Given the description of an element on the screen output the (x, y) to click on. 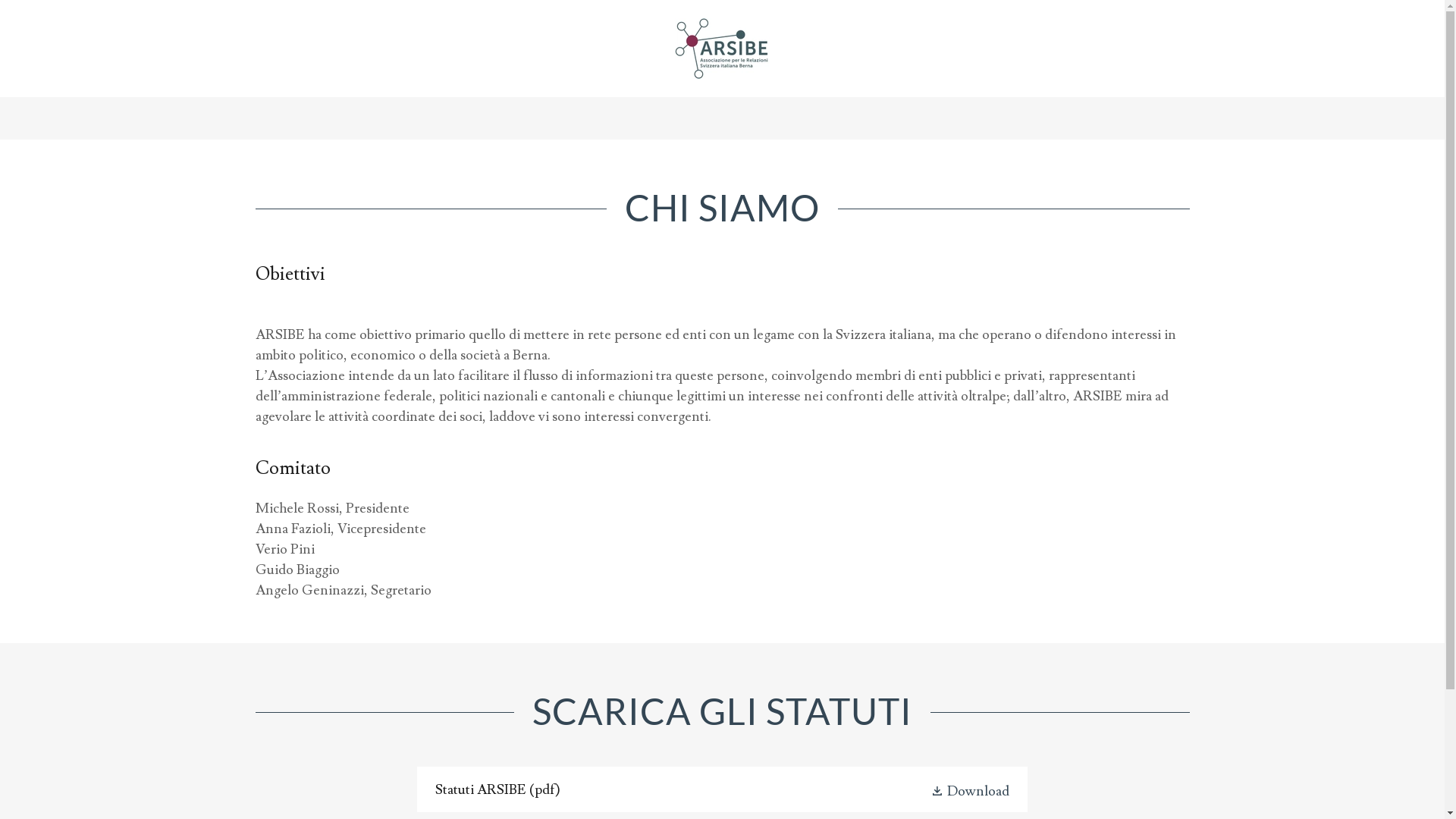
Arsibe Element type: hover (721, 44)
Statuti ARSIBE (pdf)
Download Element type: text (722, 788)
